Given the description of an element on the screen output the (x, y) to click on. 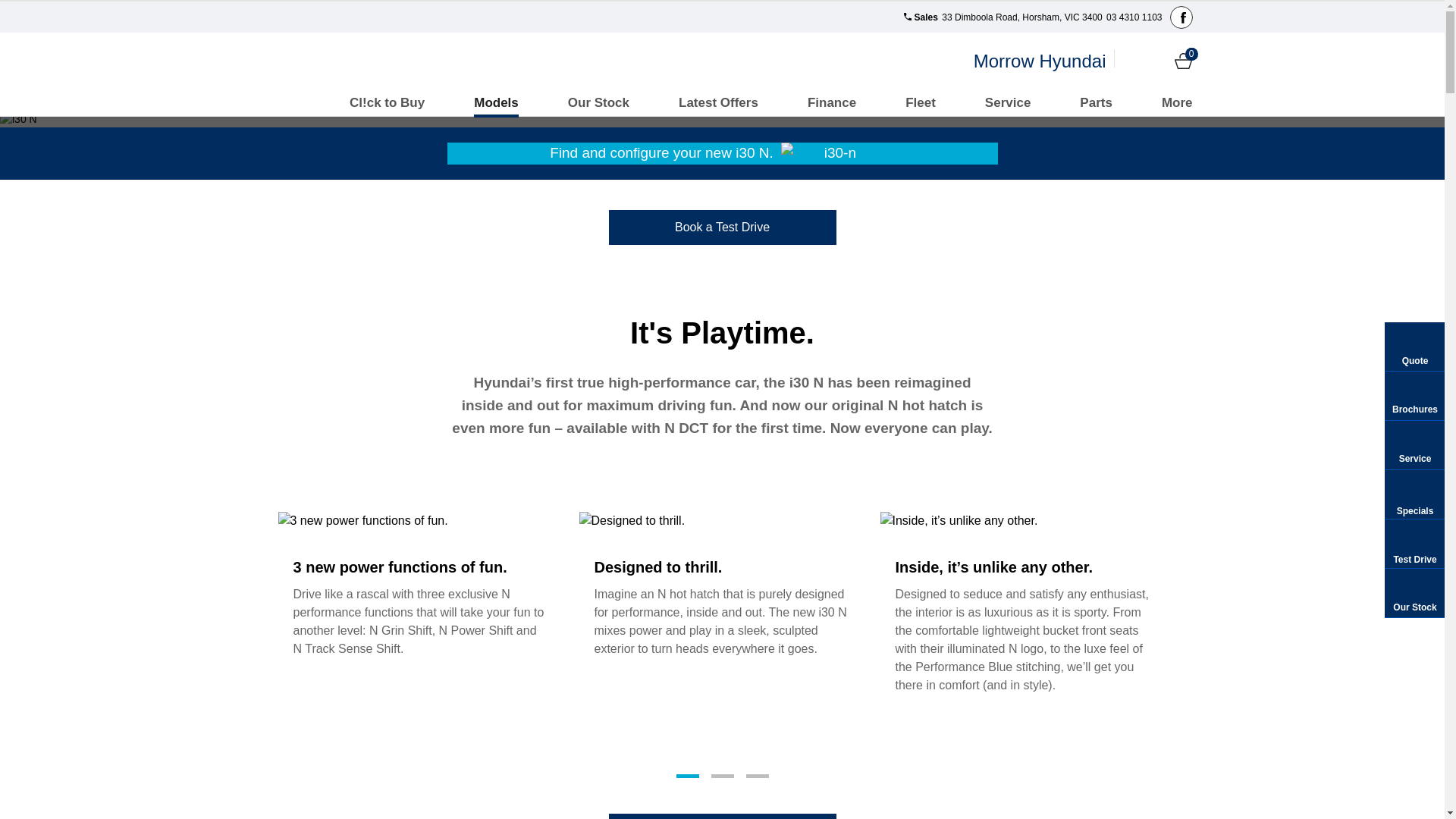
Fleet Element type: text (920, 102)
Login Element type: text (1131, 60)
Parts Element type: text (1095, 102)
03 4310 1103 Element type: text (1132, 17)
Our Stock Element type: text (598, 102)
Models Element type: text (495, 102)
Cl!ck to Buy Element type: text (386, 102)
Facebook Element type: hover (1180, 17)
Service Element type: text (1008, 102)
Signup Element type: text (1157, 60)
Finance Element type: text (831, 102)
More Element type: text (1176, 102)
Book a Test Drive Element type: text (721, 226)
Hyundai Motor Company Element type: text (313, 60)
Find and configure your new i30 N. Element type: text (722, 153)
Cart
0 Element type: text (1182, 61)
33 Dimboola Road, Horsham, VIC 3400 Element type: text (1020, 17)
Latest Offers Element type: text (718, 102)
